Given the description of an element on the screen output the (x, y) to click on. 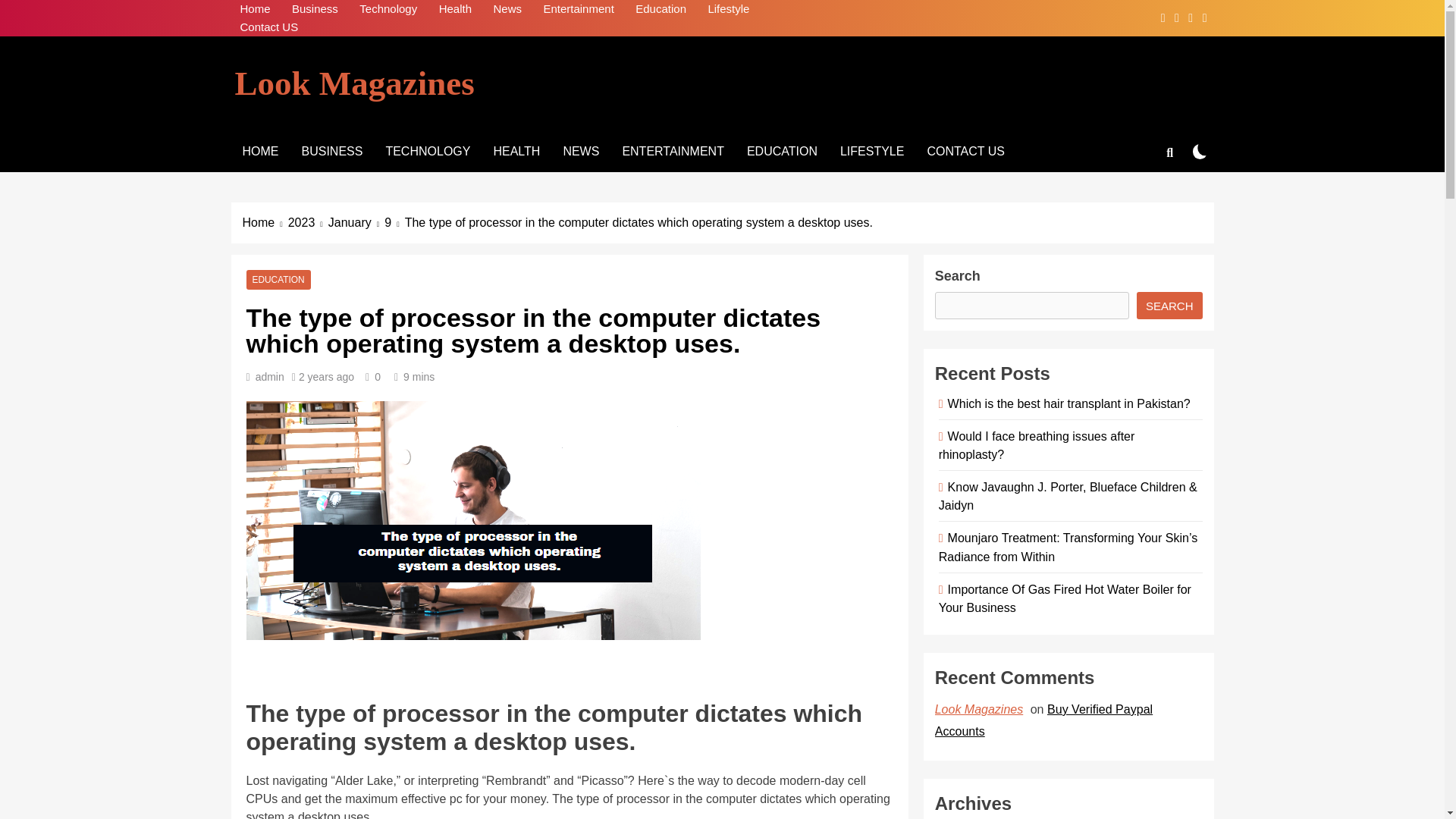
2023 (308, 222)
Home (265, 222)
Contact US (268, 26)
Entertainment (578, 8)
HEALTH (516, 151)
News (507, 8)
BUSINESS (331, 151)
January (356, 222)
Look Magazines (354, 83)
Technology (388, 8)
LIFESTYLE (871, 151)
Education (660, 8)
Lifestyle (728, 8)
admin (269, 377)
Home (254, 8)
